Given the description of an element on the screen output the (x, y) to click on. 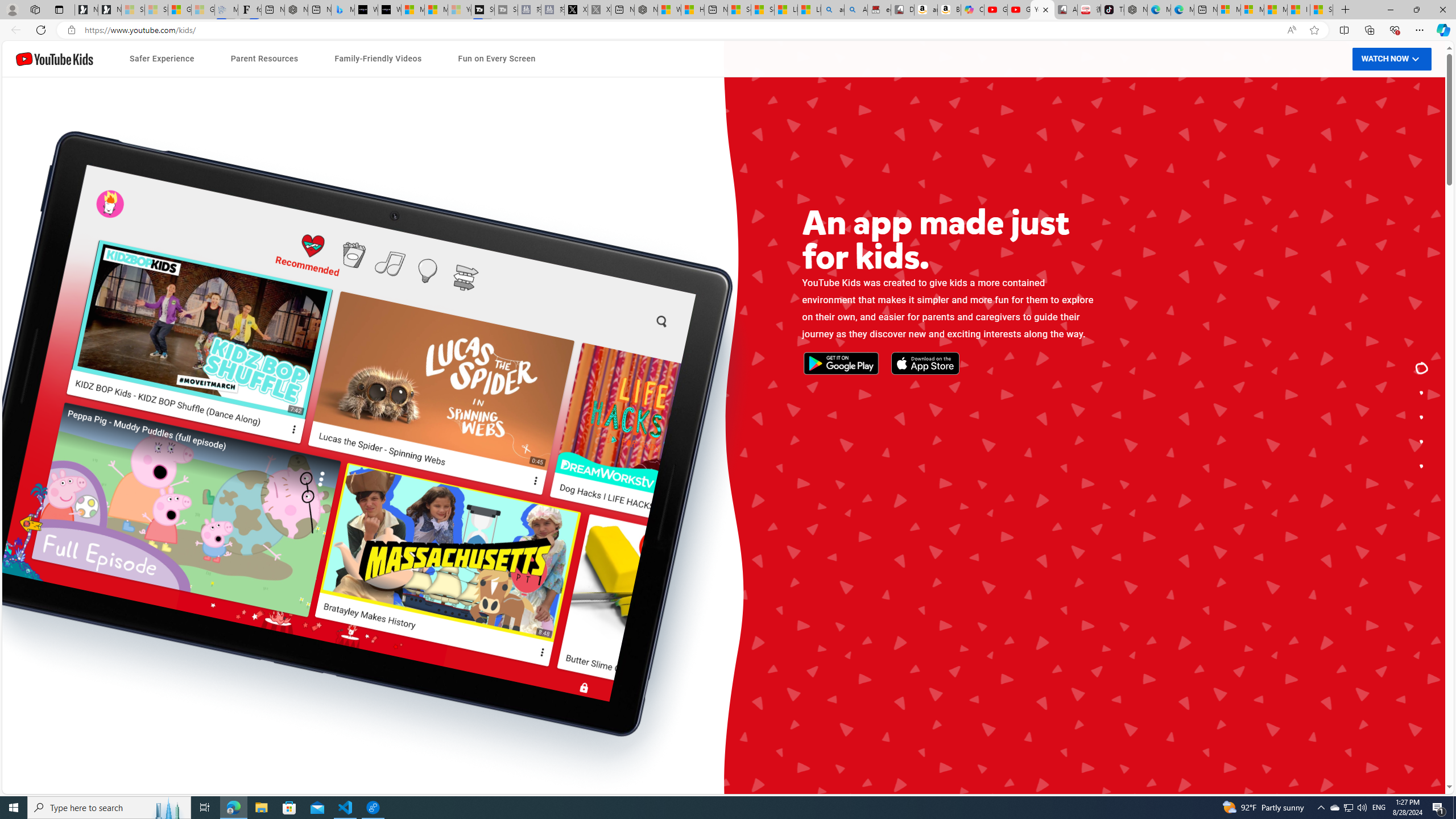
Nordace - My Account (645, 9)
YouTube Kids (54, 58)
Class: ytk-dot-nav (1421, 417)
YouTube Kids (54, 58)
X - Sleeping (598, 9)
WATCH NOW (1391, 58)
Get it on Google Play (386, 432)
Microsoft Start Sports (412, 9)
